Given the description of an element on the screen output the (x, y) to click on. 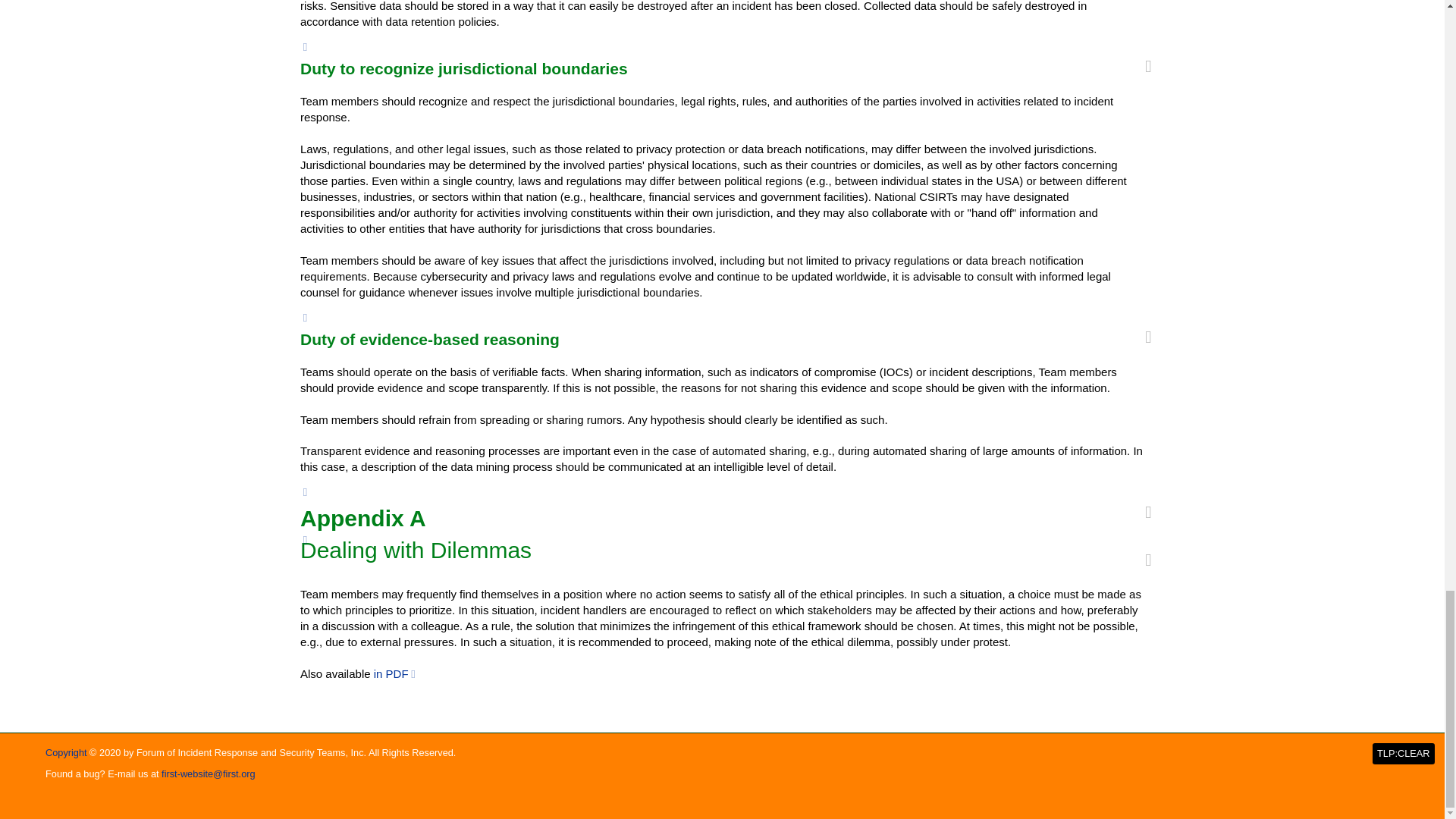
in PDF (396, 673)
